Given the description of an element on the screen output the (x, y) to click on. 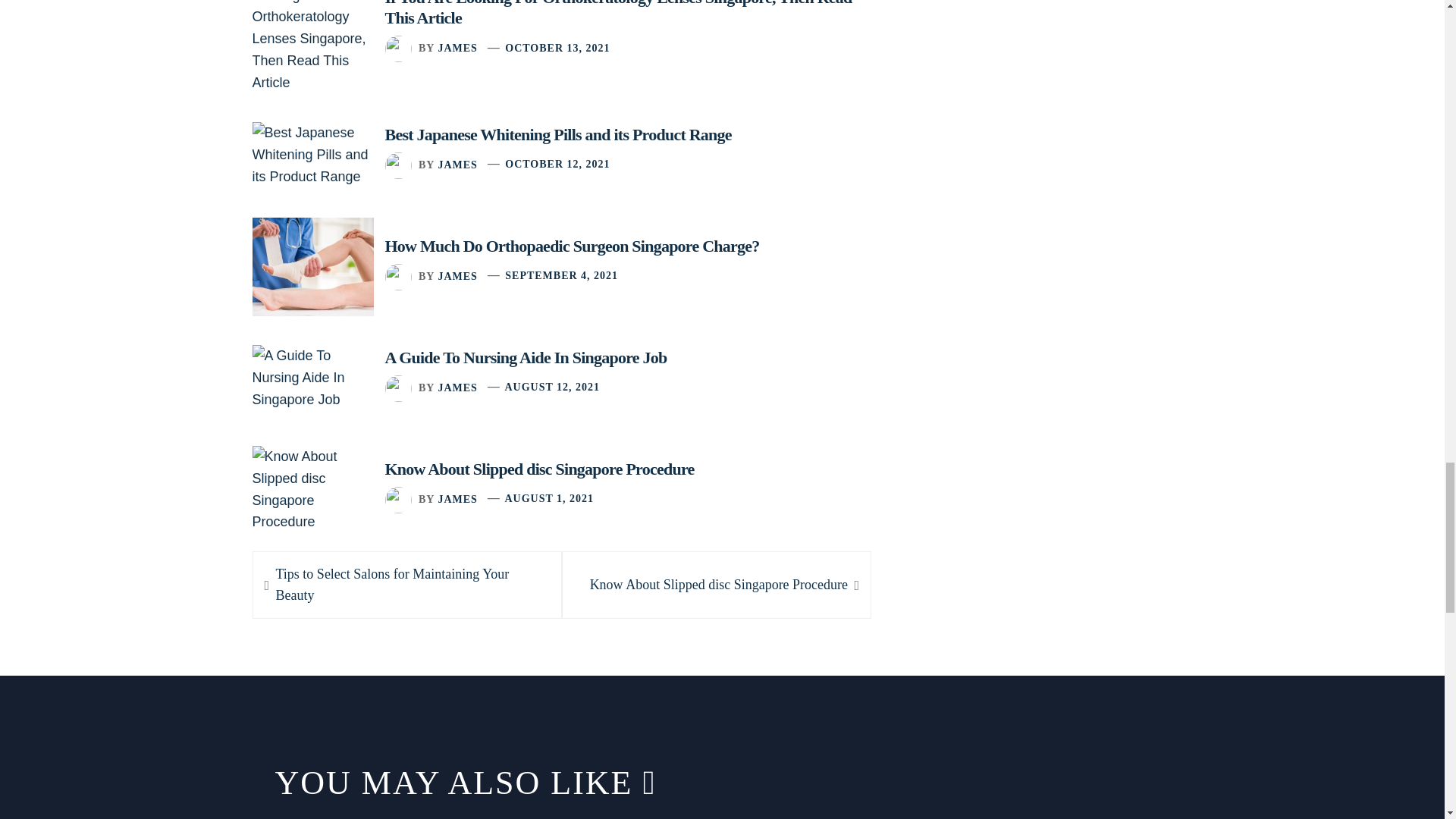
JAMES (457, 163)
AUGUST 1, 2021 (549, 498)
JAMES (457, 275)
How Much Do Orthopaedic Surgeon Singapore Charge? (572, 245)
JAMES (457, 387)
Best Japanese Whitening Pills and its Product Range (558, 134)
Know About Slipped disc Singapore Procedure (539, 468)
SEPTEMBER 4, 2021 (561, 275)
A Guide To Nursing Aide In Singapore Job (525, 357)
OCTOBER 13, 2021 (718, 585)
AUGUST 12, 2021 (557, 48)
OCTOBER 12, 2021 (552, 387)
